Given the description of an element on the screen output the (x, y) to click on. 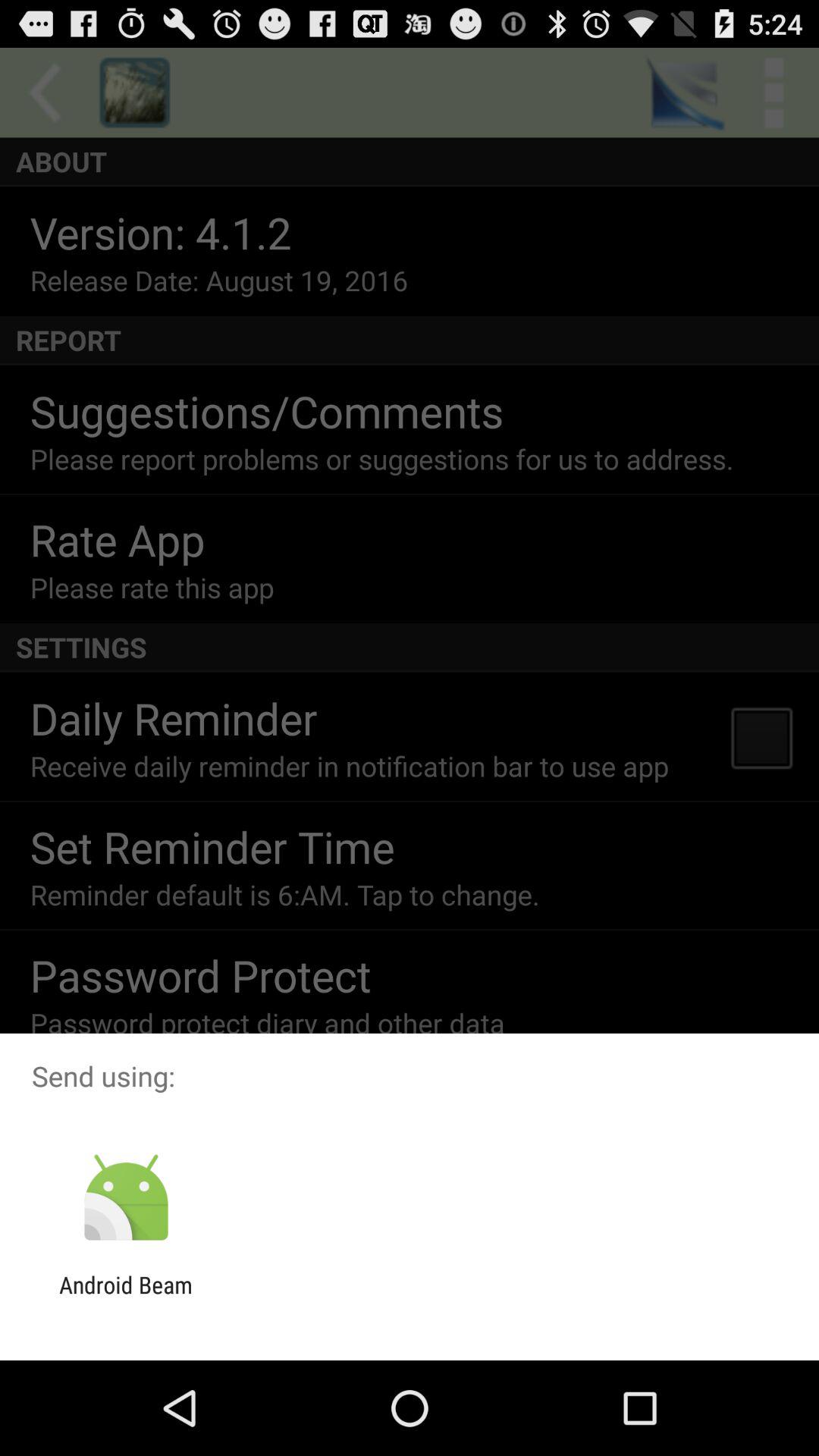
open the android beam (125, 1298)
